Given the description of an element on the screen output the (x, y) to click on. 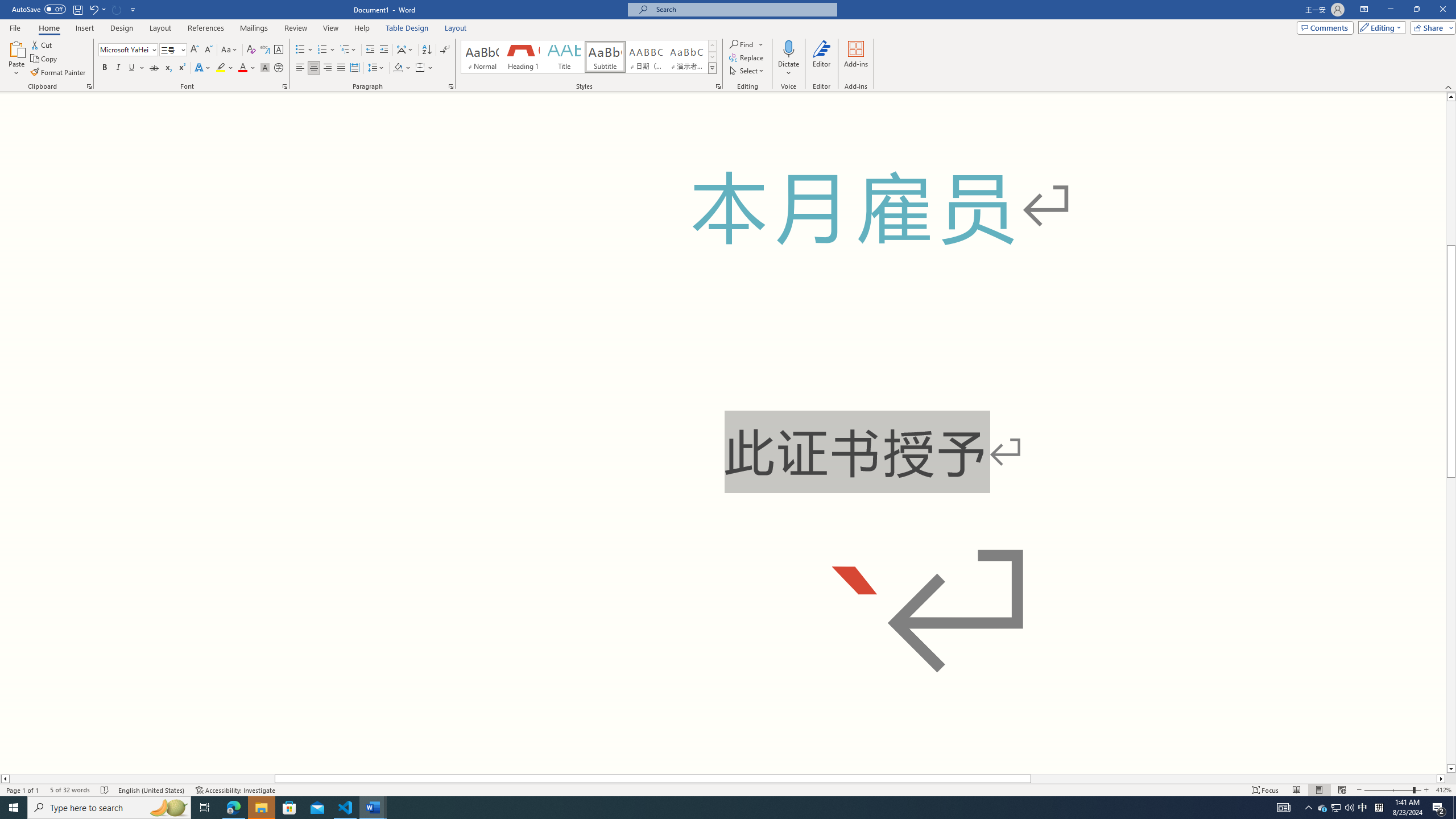
Focus  (1265, 790)
Show/Hide Editing Marks (444, 49)
Zoom In (1426, 790)
Cut (42, 44)
Distributed (354, 67)
Subtitle (605, 56)
Zoom 412% (1443, 790)
Insert (83, 28)
Copy (45, 58)
Table Design (407, 28)
Read Mode (1296, 790)
Superscript (180, 67)
References (205, 28)
